Given the description of an element on the screen output the (x, y) to click on. 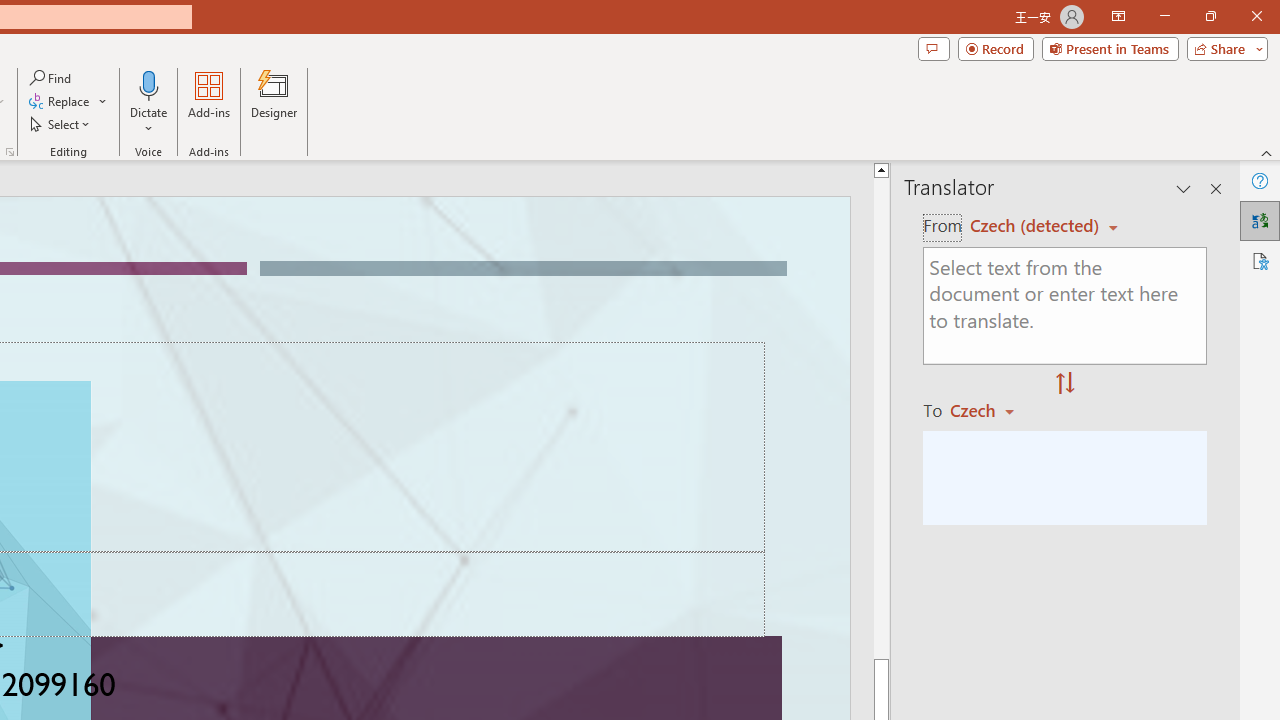
Czech (detected) (1037, 225)
